Given the description of an element on the screen output the (x, y) to click on. 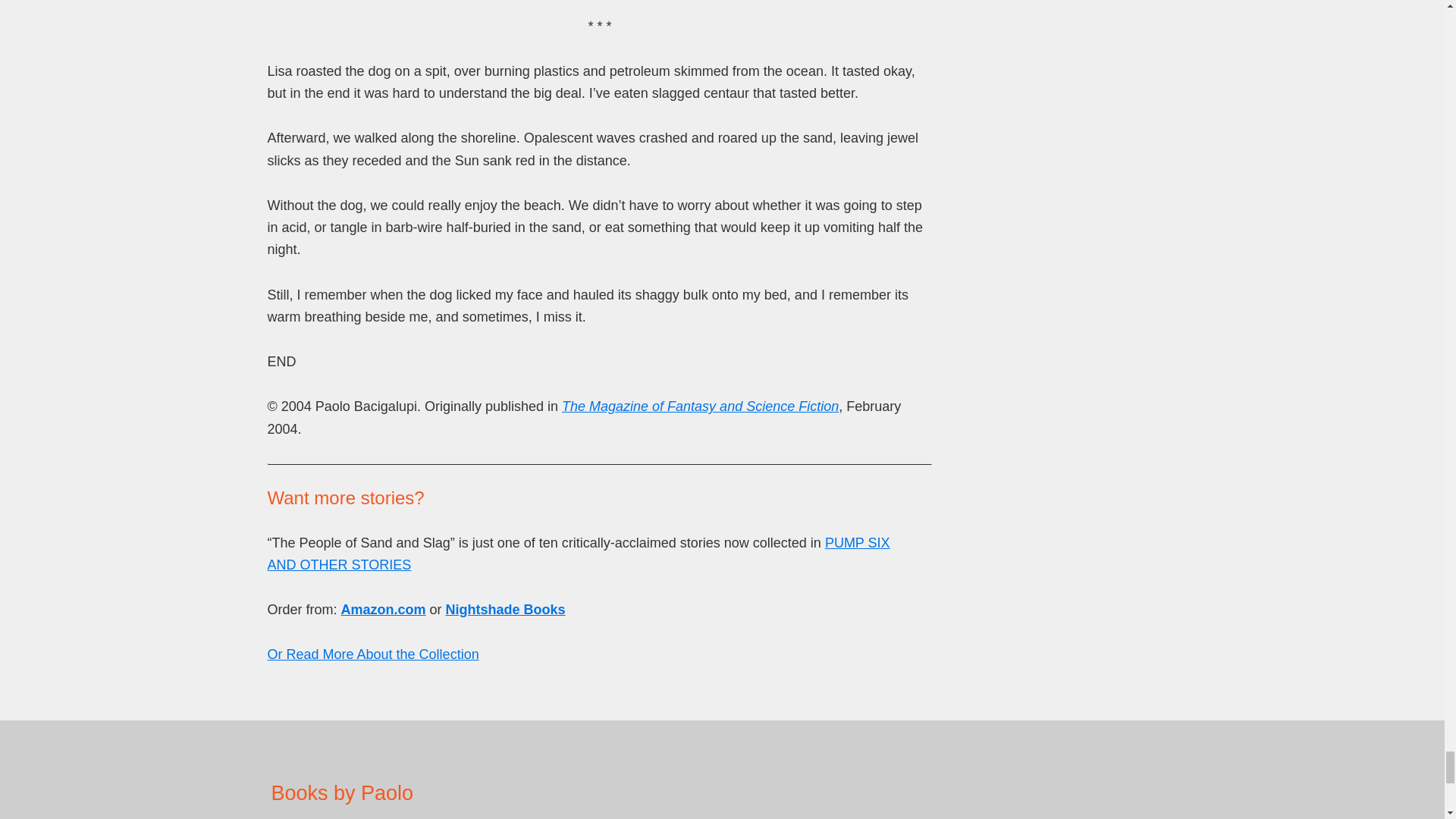
Nightshade Books (505, 609)
Amazon.com (383, 609)
PUMP SIX AND OTHER STORIES (577, 553)
Or Read More About the Collection (372, 654)
The Magazine of Fantasy and Science Fiction (700, 406)
